Given the description of an element on the screen output the (x, y) to click on. 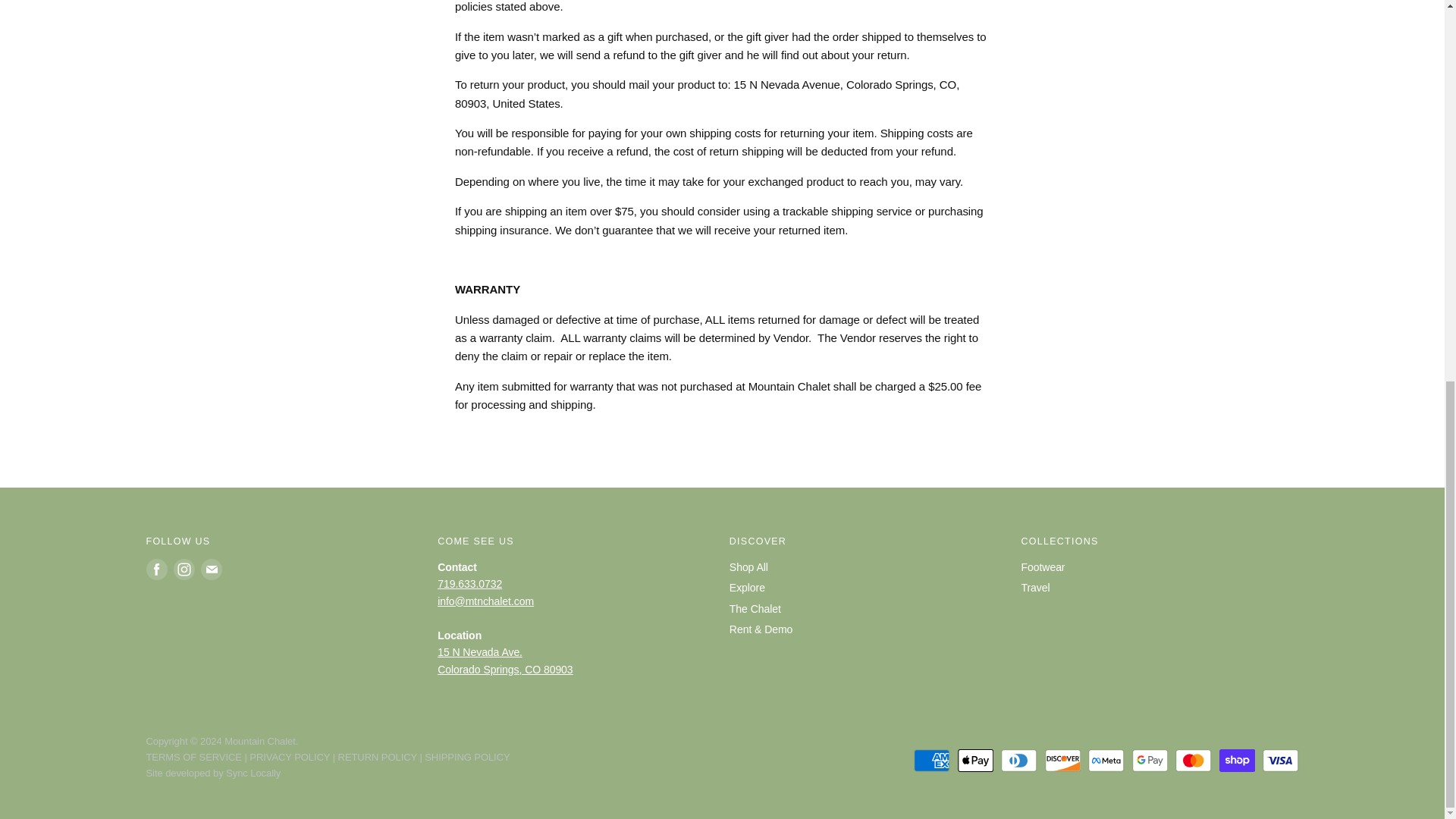
Privacy Policy (289, 756)
Refund Policy (376, 756)
Instagram (183, 569)
Shipping (467, 756)
Terms of Service (193, 756)
E-mail (210, 569)
Facebook (156, 569)
